Given the description of an element on the screen output the (x, y) to click on. 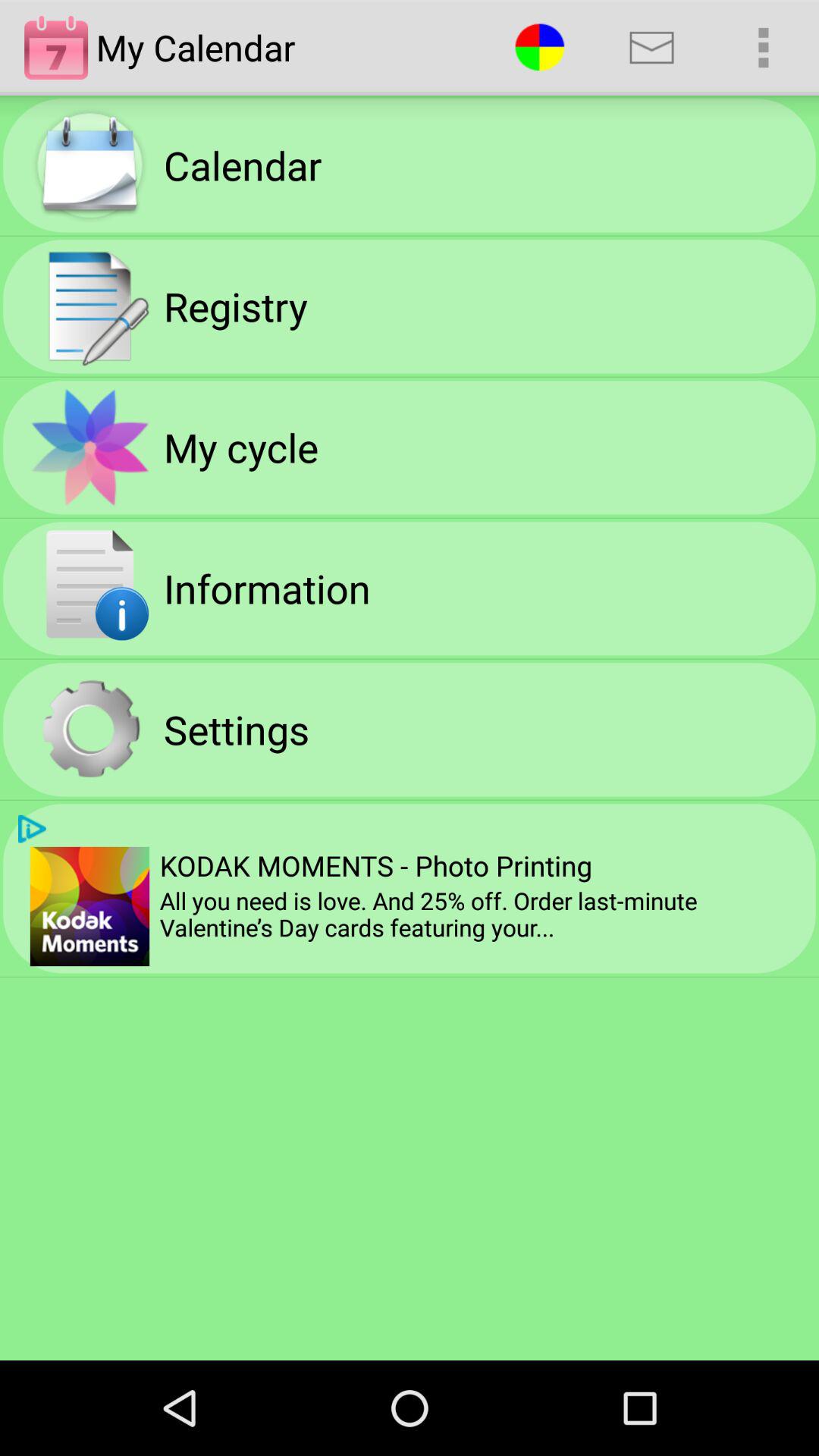
flip to the kodak moments photo item (375, 865)
